Given the description of an element on the screen output the (x, y) to click on. 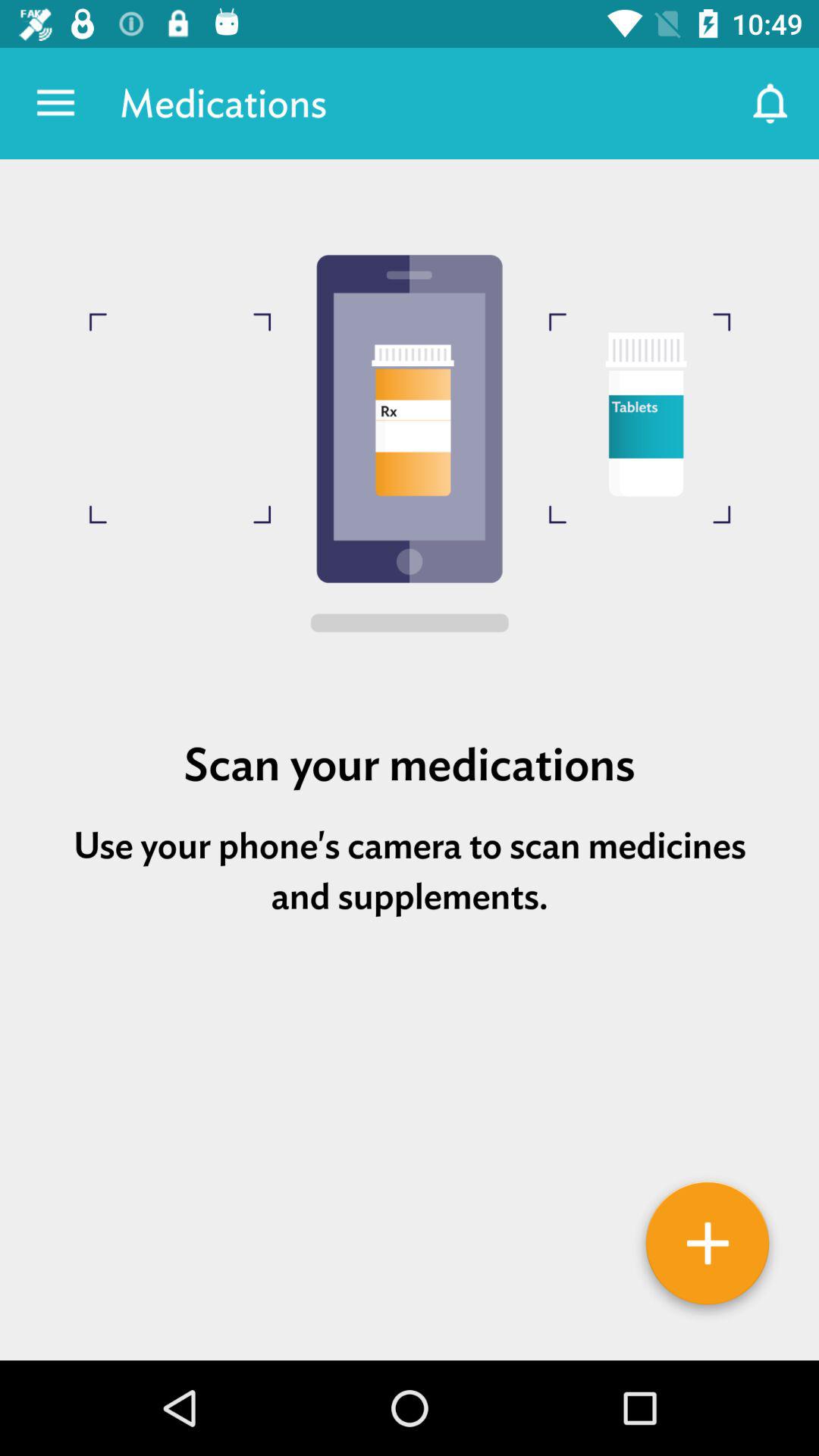
choose the app to the left of medications item (55, 103)
